Given the description of an element on the screen output the (x, y) to click on. 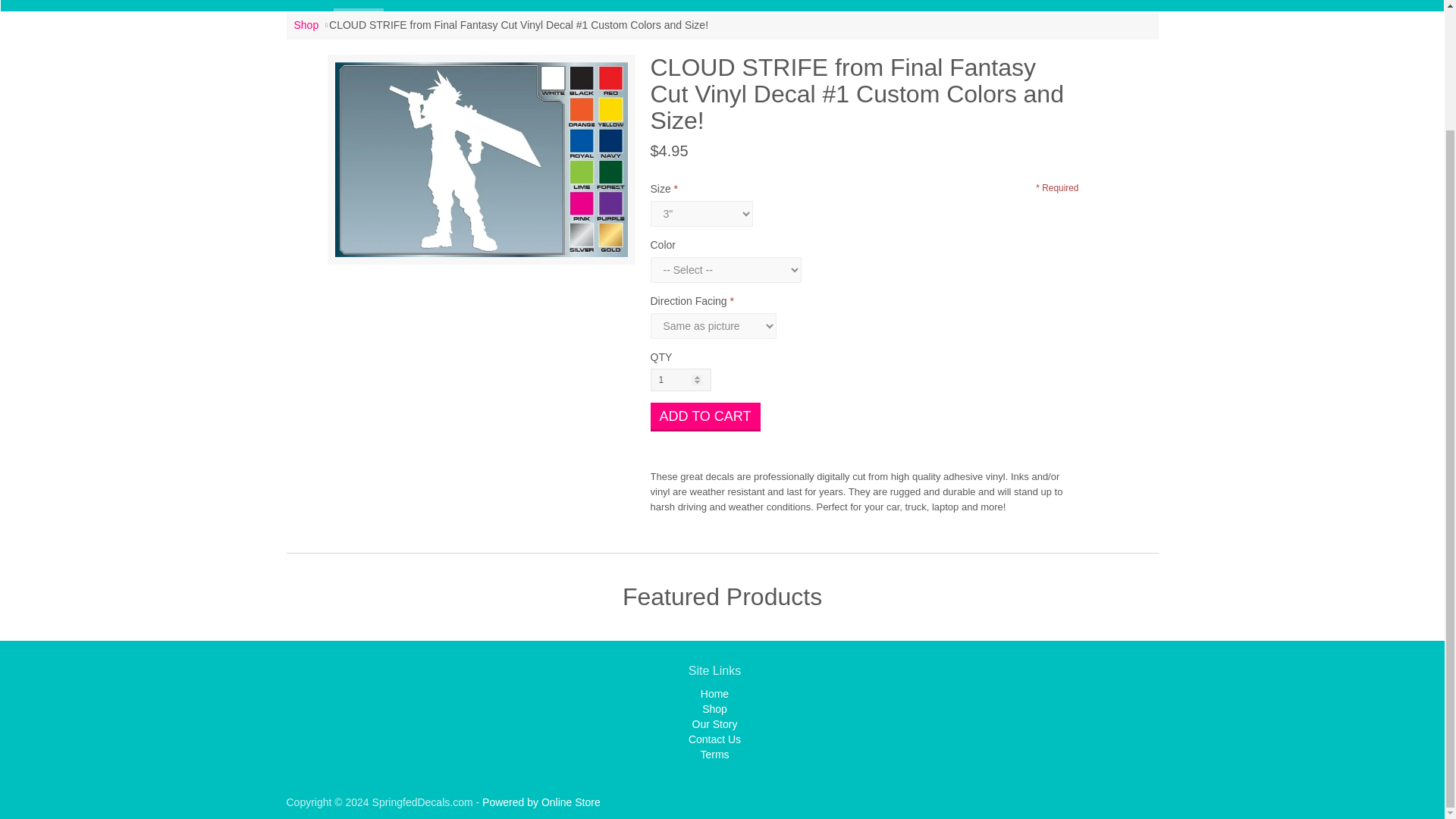
SHOP (358, 4)
1 (680, 379)
HOME (309, 5)
Add to Cart (705, 416)
